Given the description of an element on the screen output the (x, y) to click on. 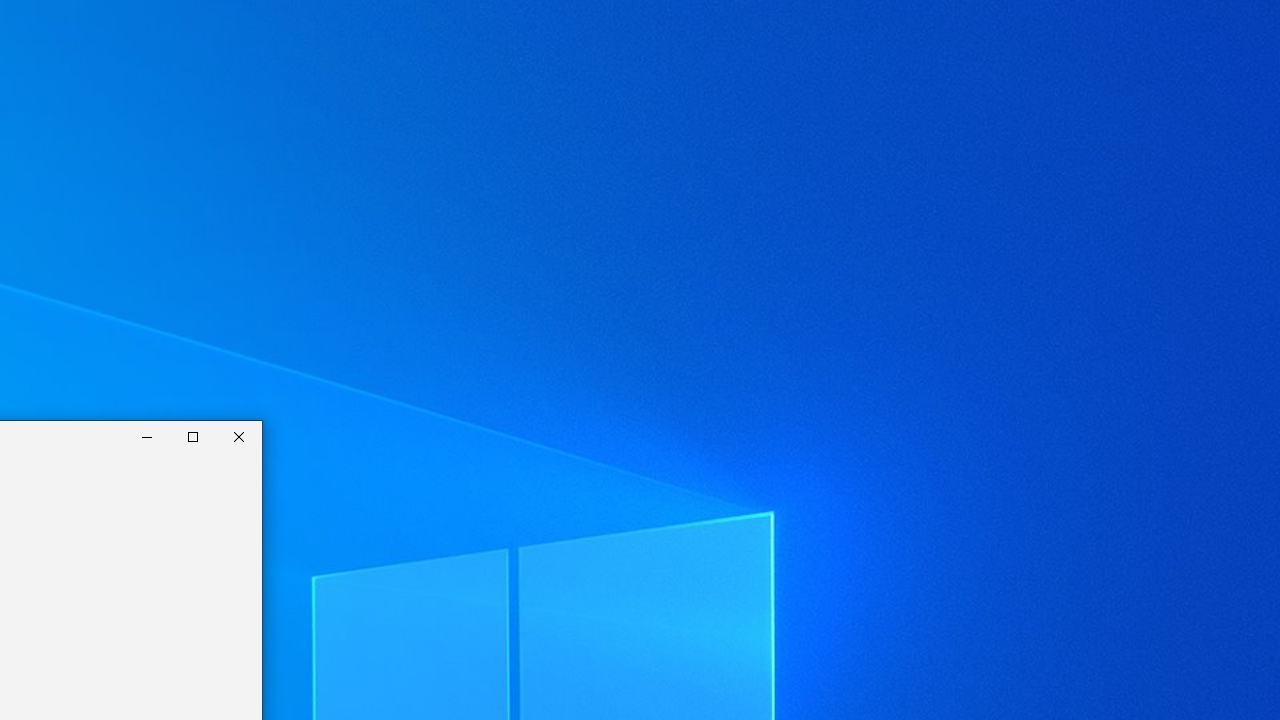
Minimize Calculator (147, 436)
Maximize Calculator (193, 436)
Close Calculator (239, 436)
